Given the description of an element on the screen output the (x, y) to click on. 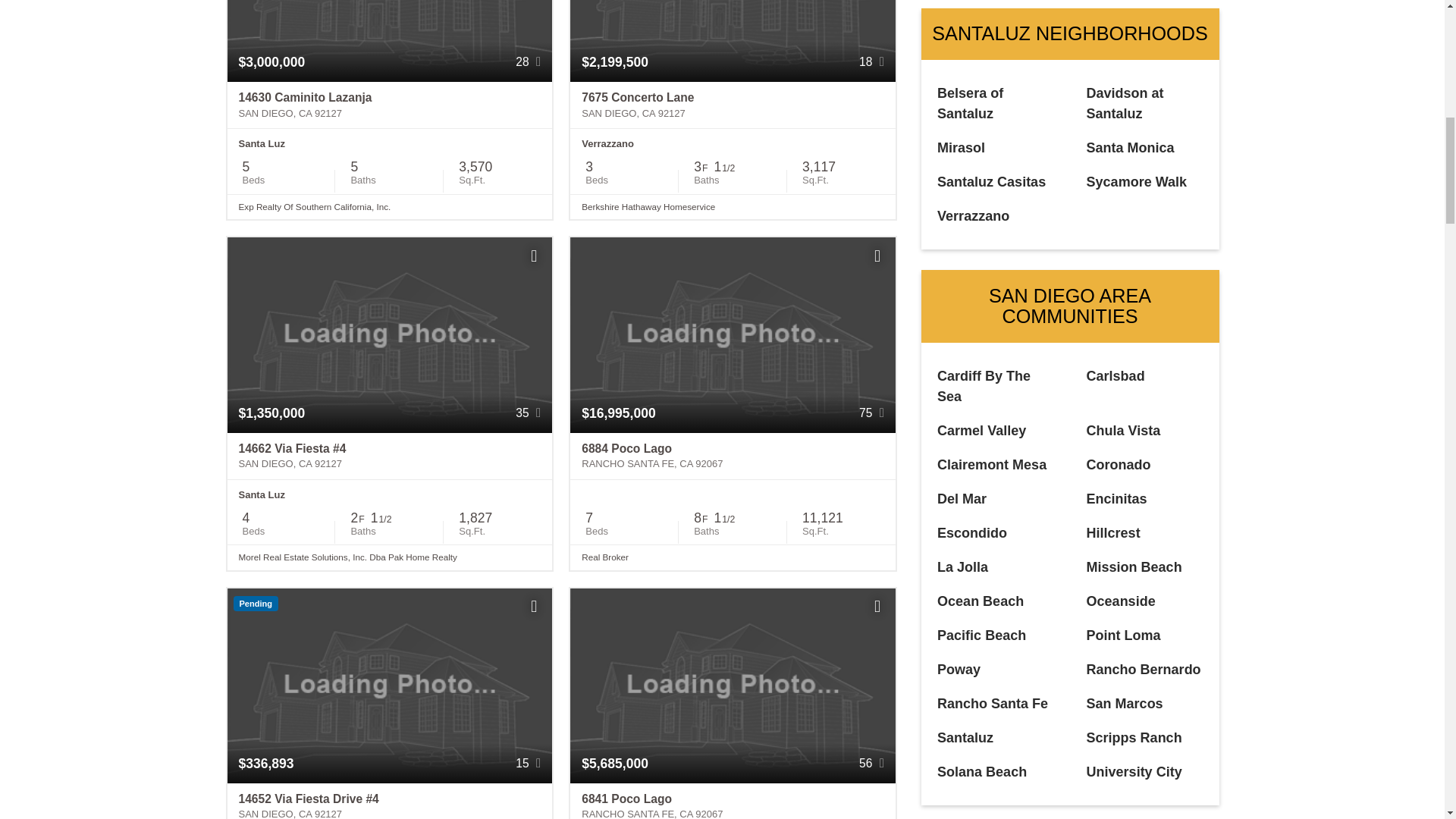
7675 Concerto Lane San Diego,  CA 92127 (732, 104)
14630 Caminito Lazanja San Diego,  CA 92127 (390, 104)
6841 Poco Lago Rancho Santa Fe,  CA 92067 (732, 800)
6884 Poco Lago Rancho Santa Fe,  CA 92067 (732, 456)
